Given the description of an element on the screen output the (x, y) to click on. 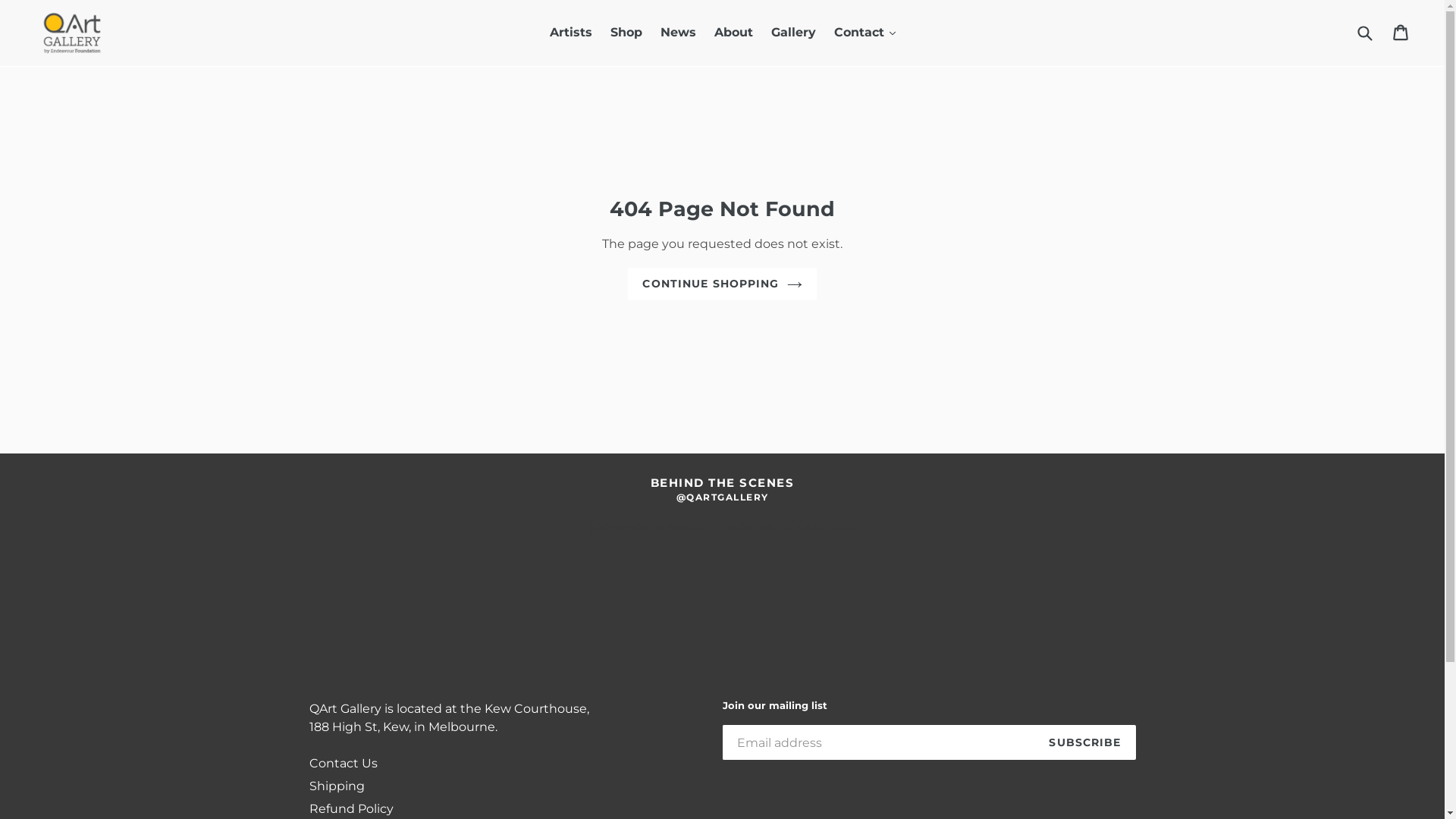
SUBSCRIBE Element type: text (1084, 741)
Shipping Element type: text (336, 785)
Submit Element type: text (1363, 32)
BEHIND THE SCENES
@QARTGALLERY Element type: text (722, 489)
Refund Policy Element type: text (351, 808)
News Element type: text (677, 32)
Artists Element type: text (570, 32)
Cart
Cart Element type: text (1401, 32)
Contact Us Element type: text (343, 763)
Gallery Element type: text (792, 32)
Shop Element type: text (625, 32)
About Element type: text (733, 32)
CONTINUE SHOPPING Element type: text (721, 283)
